Given the description of an element on the screen output the (x, y) to click on. 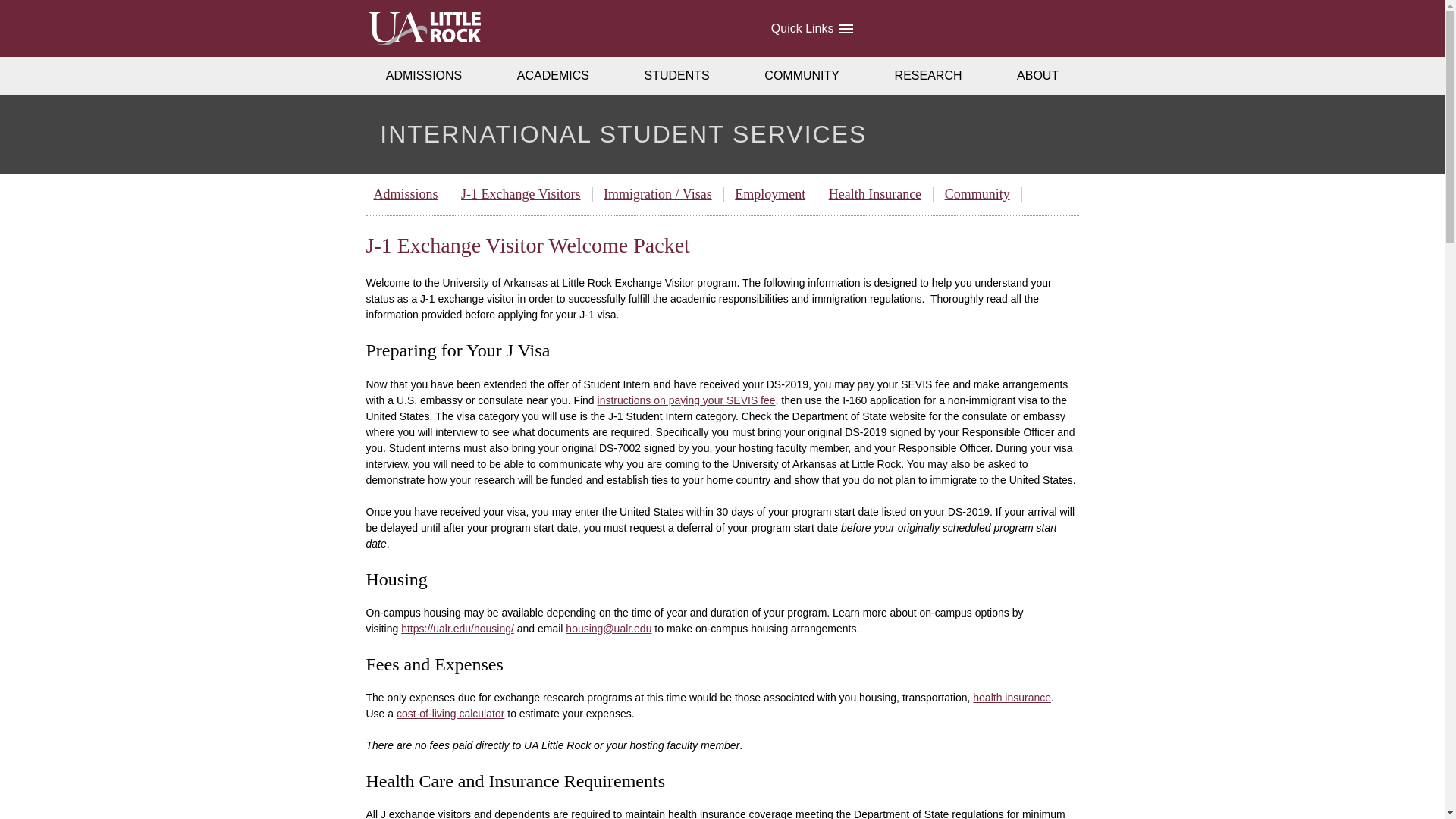
ACADEMICS (553, 75)
Quick Links (810, 28)
ADMISSIONS (423, 75)
Skip to main content (25, 13)
